Given the description of an element on the screen output the (x, y) to click on. 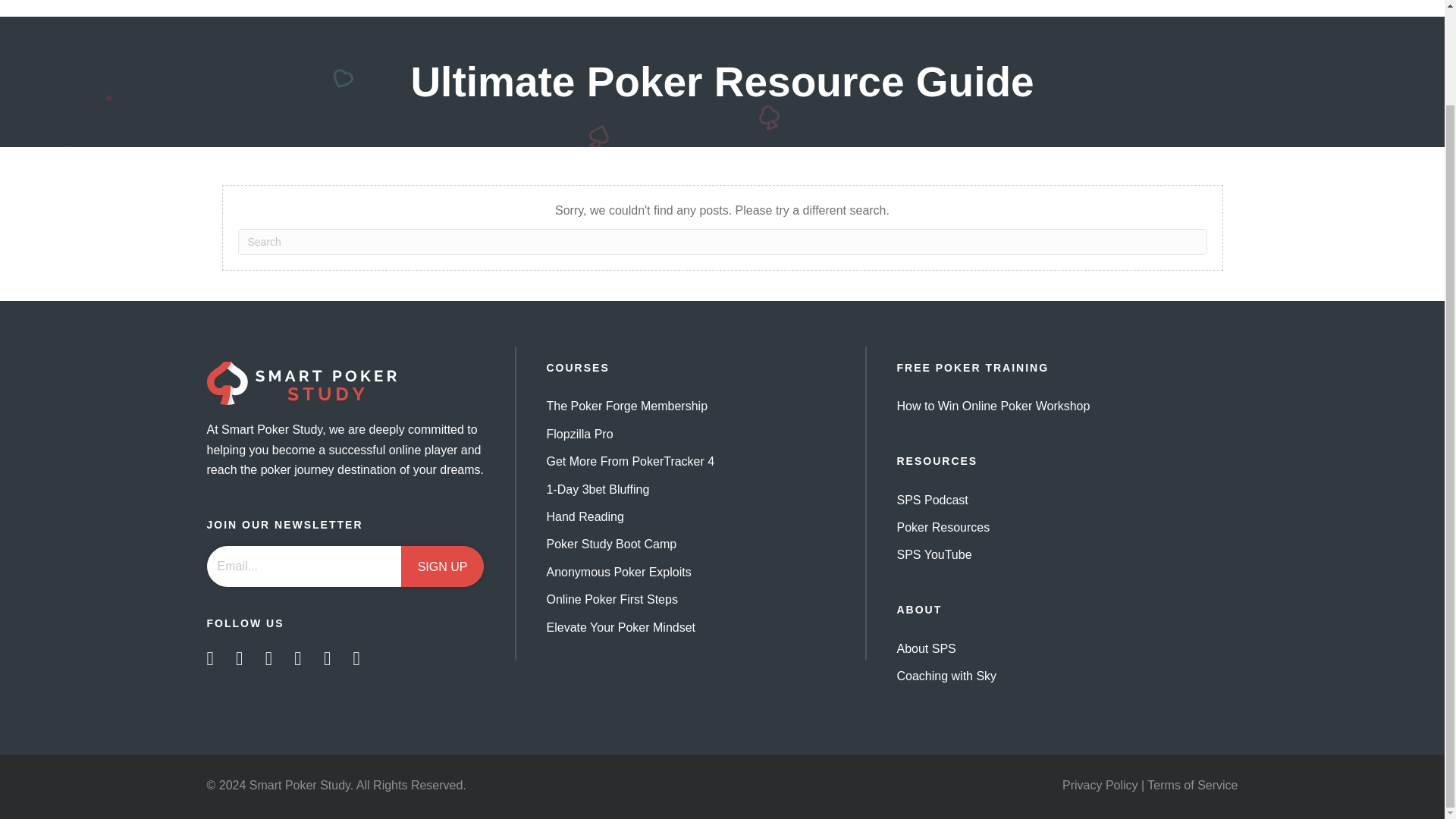
Type and press Enter to search. (722, 241)
SIGN UP (442, 566)
SPS-Logo-White (301, 383)
COURSES (577, 367)
